Given the description of an element on the screen output the (x, y) to click on. 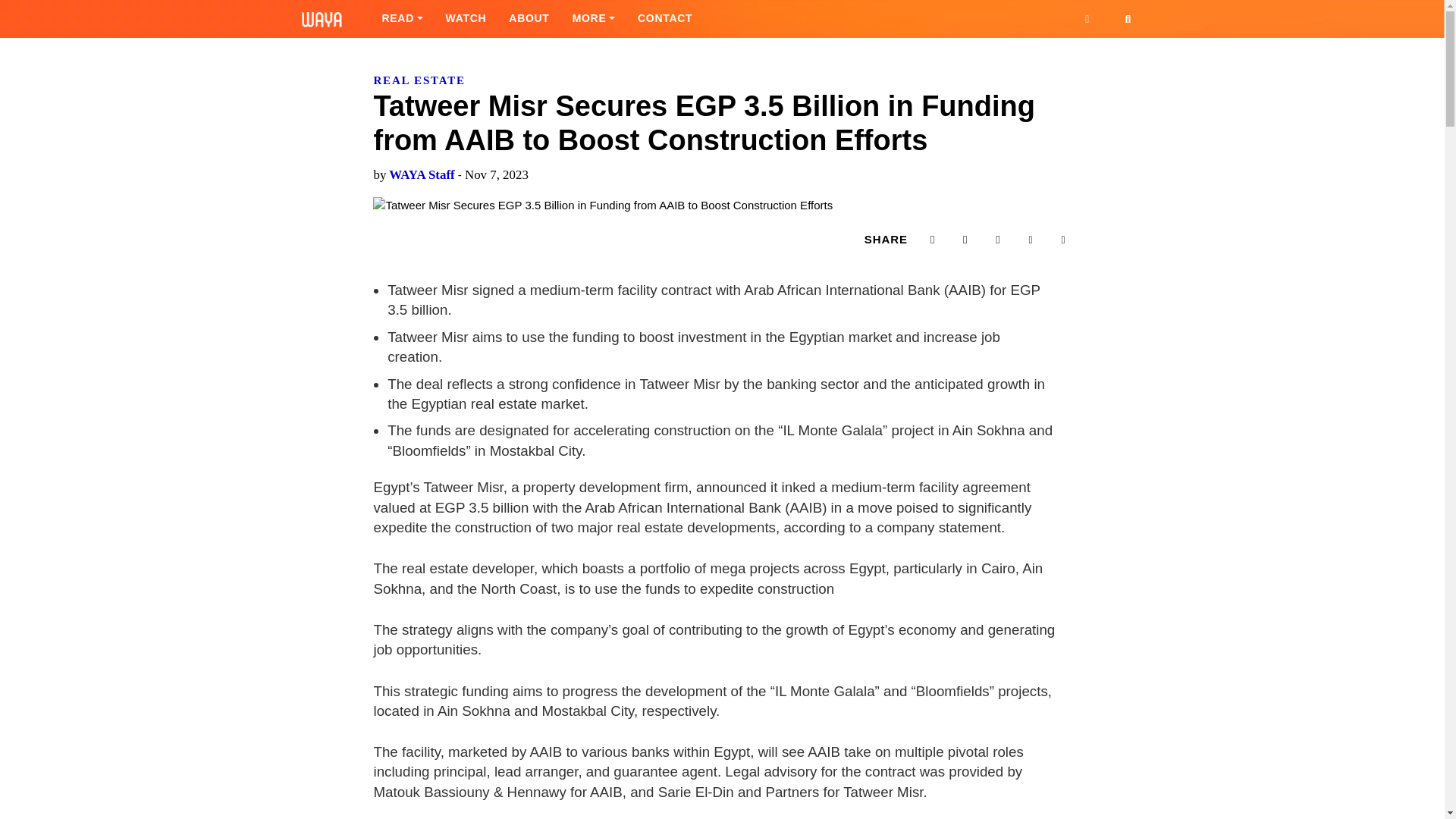
READ (401, 18)
About (528, 18)
Watch (465, 18)
WATCH (465, 18)
MORE (593, 18)
CONTACT (664, 18)
ABOUT (528, 18)
Read (401, 18)
